Given the description of an element on the screen output the (x, y) to click on. 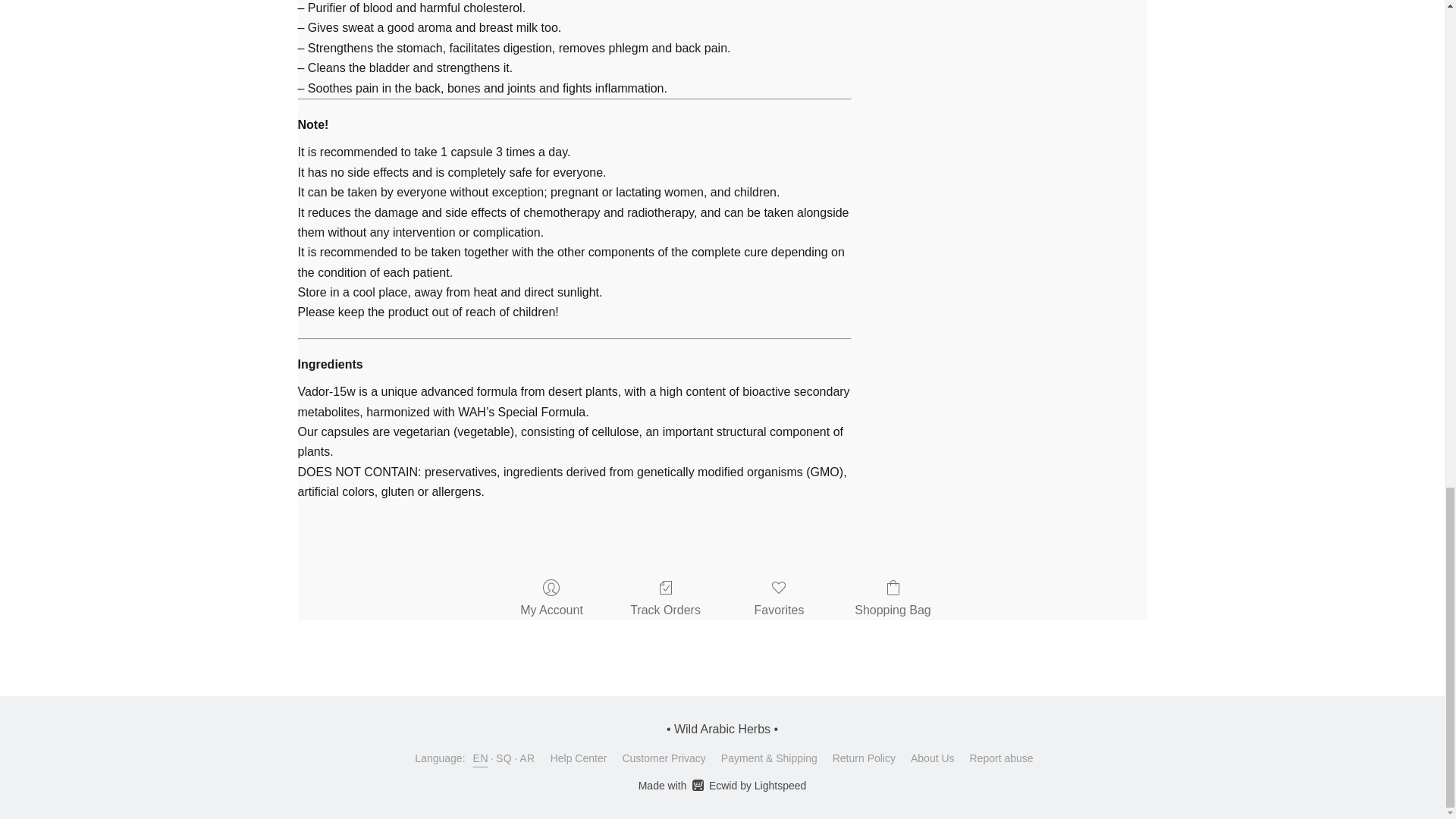
Track Orders (665, 598)
My Account (551, 598)
